Given the description of an element on the screen output the (x, y) to click on. 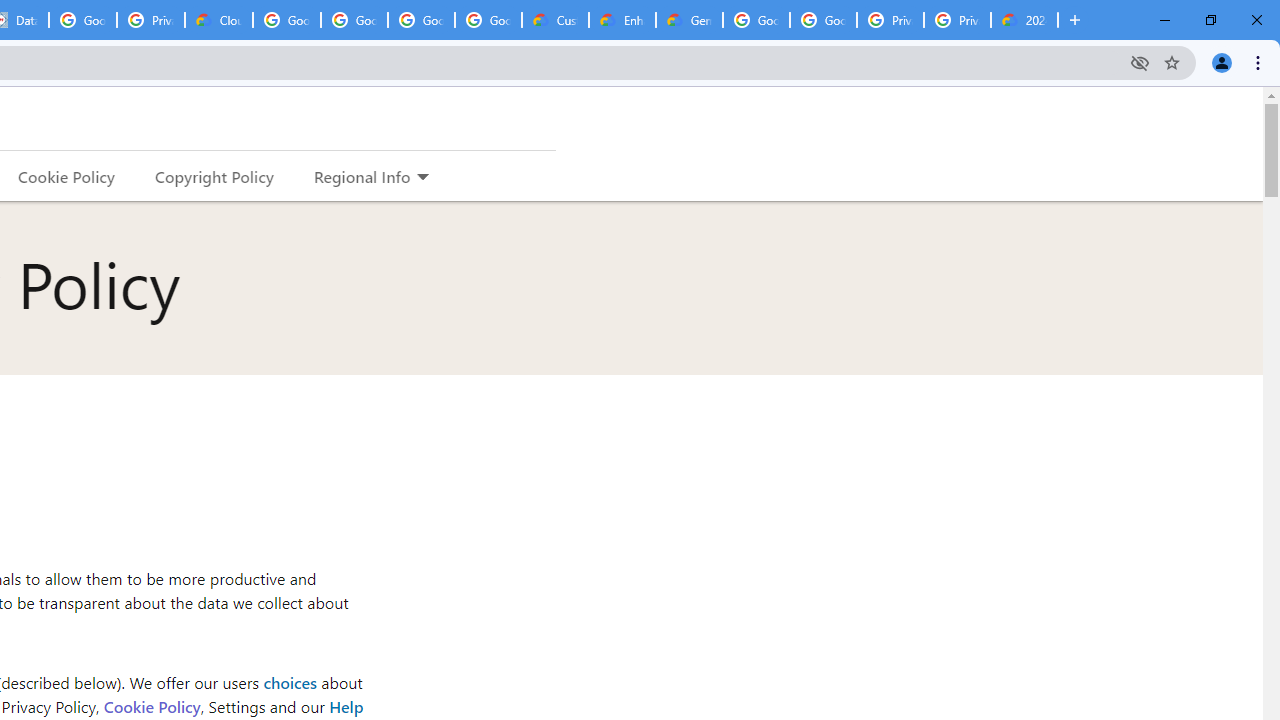
Google Cloud Platform (823, 20)
Google Workspace - Specific Terms (420, 20)
Google Workspace - Specific Terms (488, 20)
Regional Info (361, 176)
Copyright Policy (213, 176)
